Given the description of an element on the screen output the (x, y) to click on. 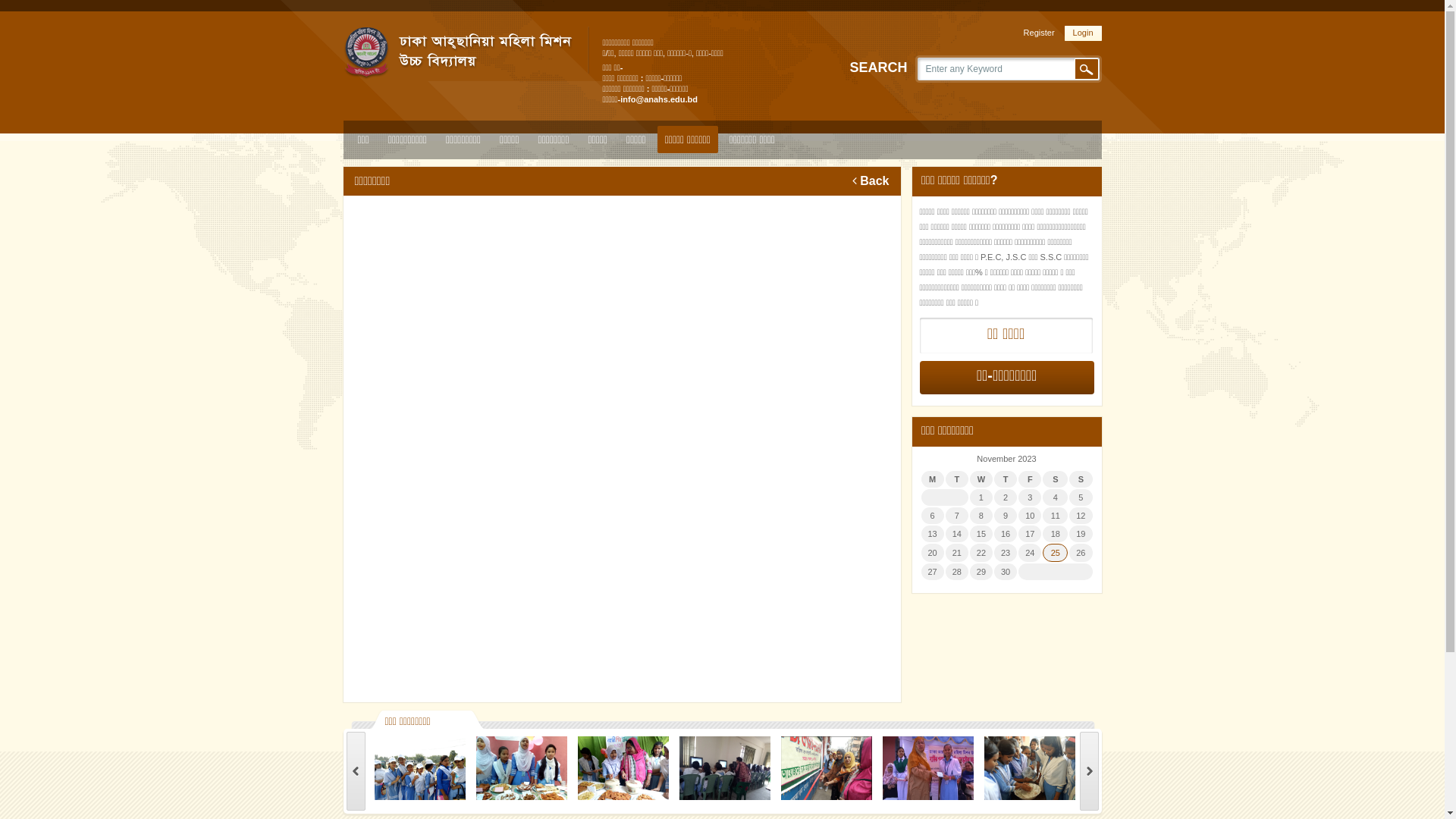
Register Element type: text (1039, 33)
  Element type: text (354, 770)
Login Element type: text (1082, 33)
  Element type: text (1088, 770)
Back Element type: text (870, 181)
info@anahs.edu.bd Element type: text (658, 98)
